Given the description of an element on the screen output the (x, y) to click on. 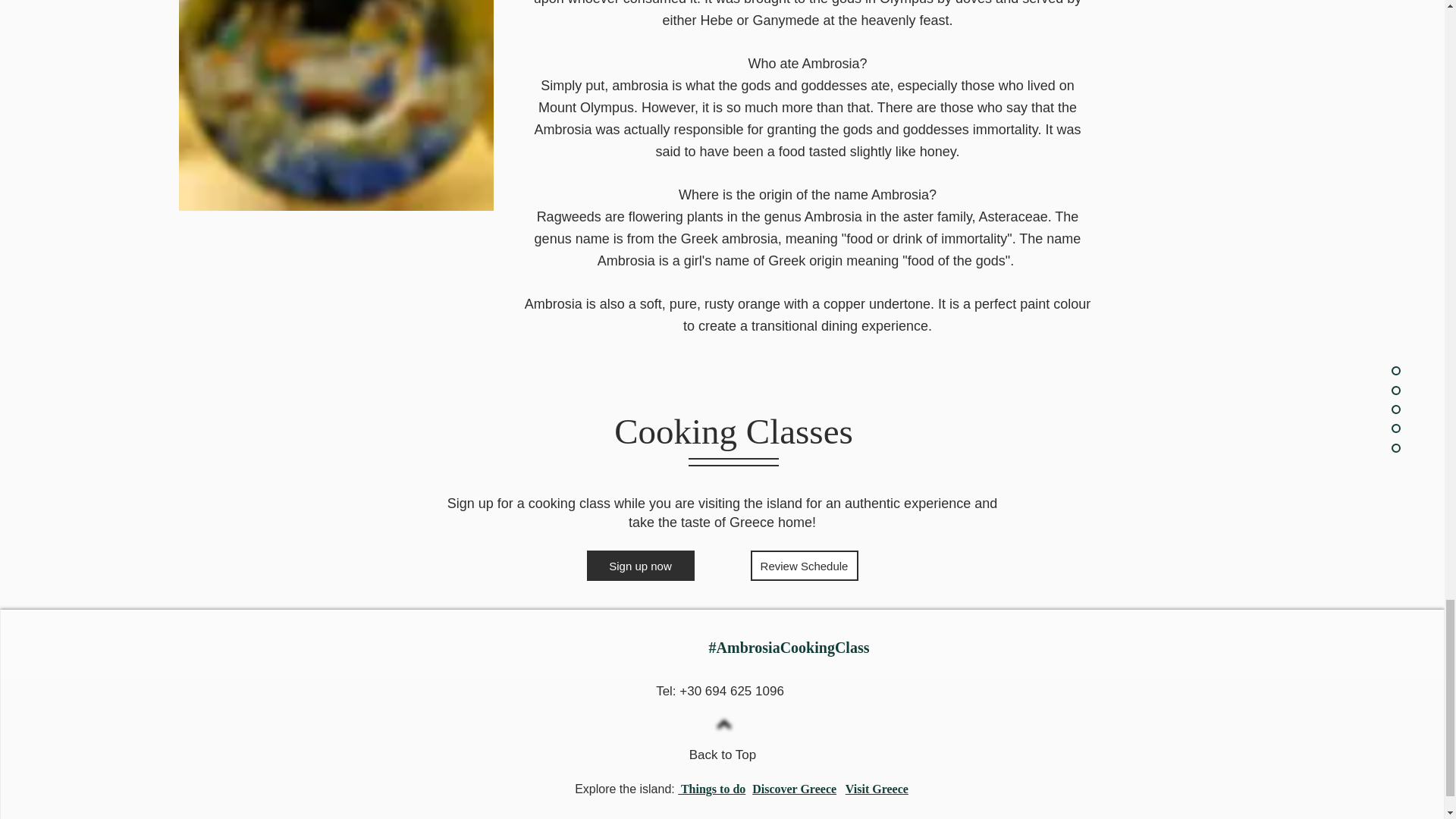
Back to Top (722, 754)
Visit Greece (876, 788)
Review Schedule (805, 565)
Things to do (711, 788)
Sign up now (640, 565)
Discover Greece (793, 788)
